Given the description of an element on the screen output the (x, y) to click on. 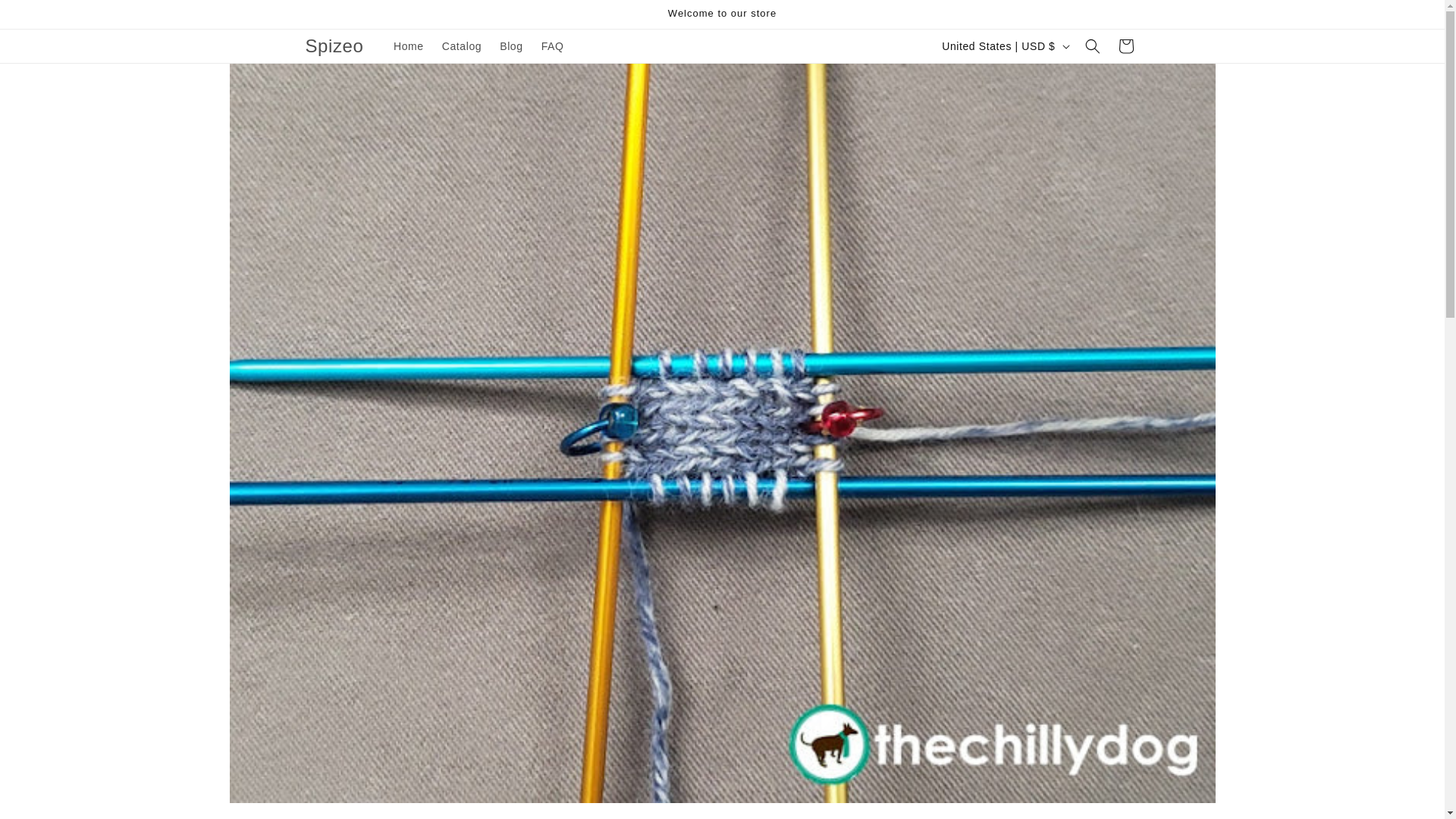
Home (408, 46)
Spizeo (334, 46)
Catalog (461, 46)
FAQ (552, 46)
Blog (510, 46)
Cart (1124, 46)
Skip to content (45, 17)
